Given the description of an element on the screen output the (x, y) to click on. 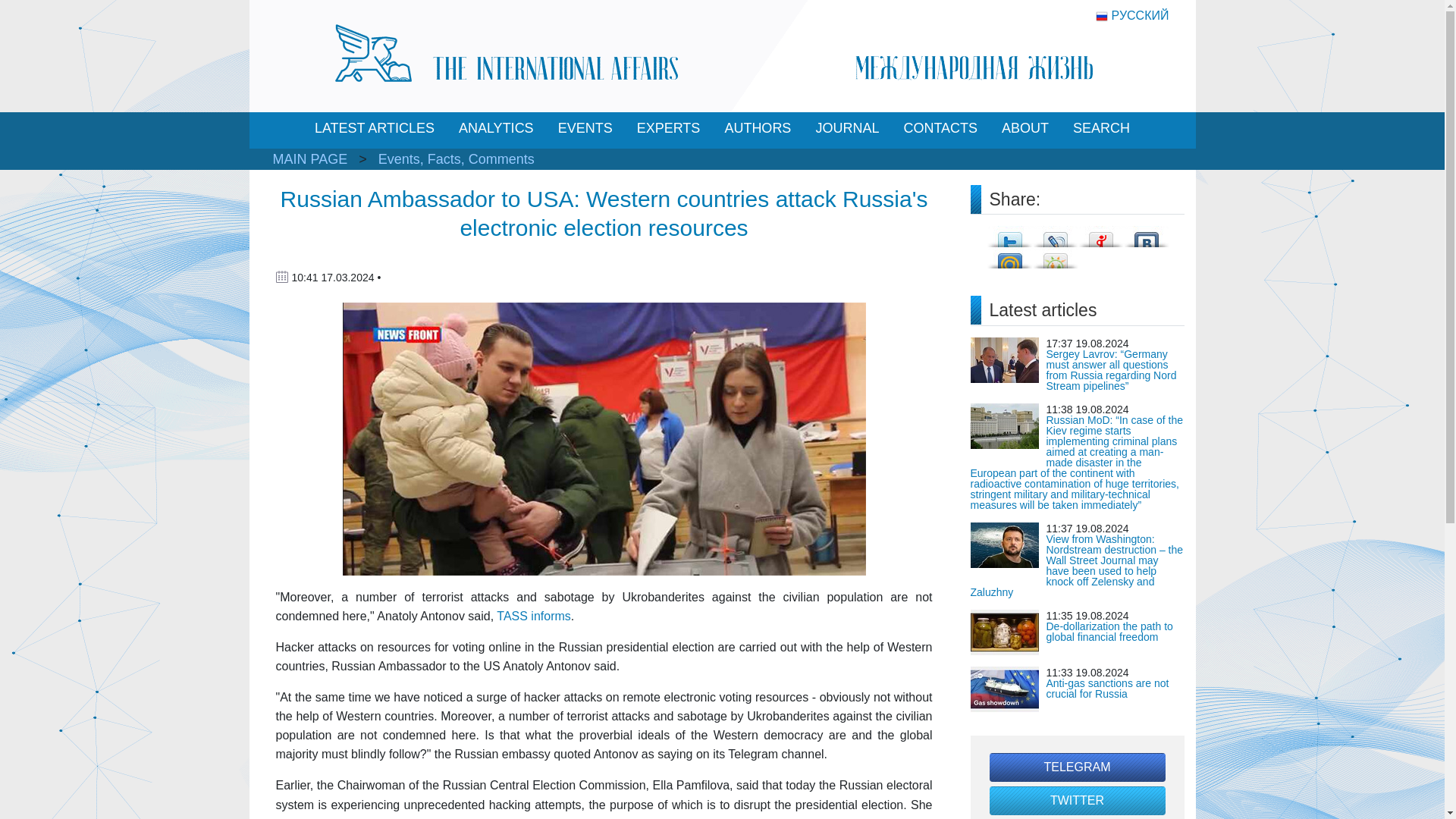
MAIN PAGE (310, 159)
ABOUT (1024, 128)
AUTHORS (756, 128)
SEARCH (1101, 128)
De-dollarization the path to global financial freedom (1109, 630)
EXPERTS (668, 128)
Events, Facts, Comments (456, 159)
Anti-gas sanctions are not crucial for Russia (1107, 688)
JOURNAL (847, 128)
EVENTS (584, 128)
